Given the description of an element on the screen output the (x, y) to click on. 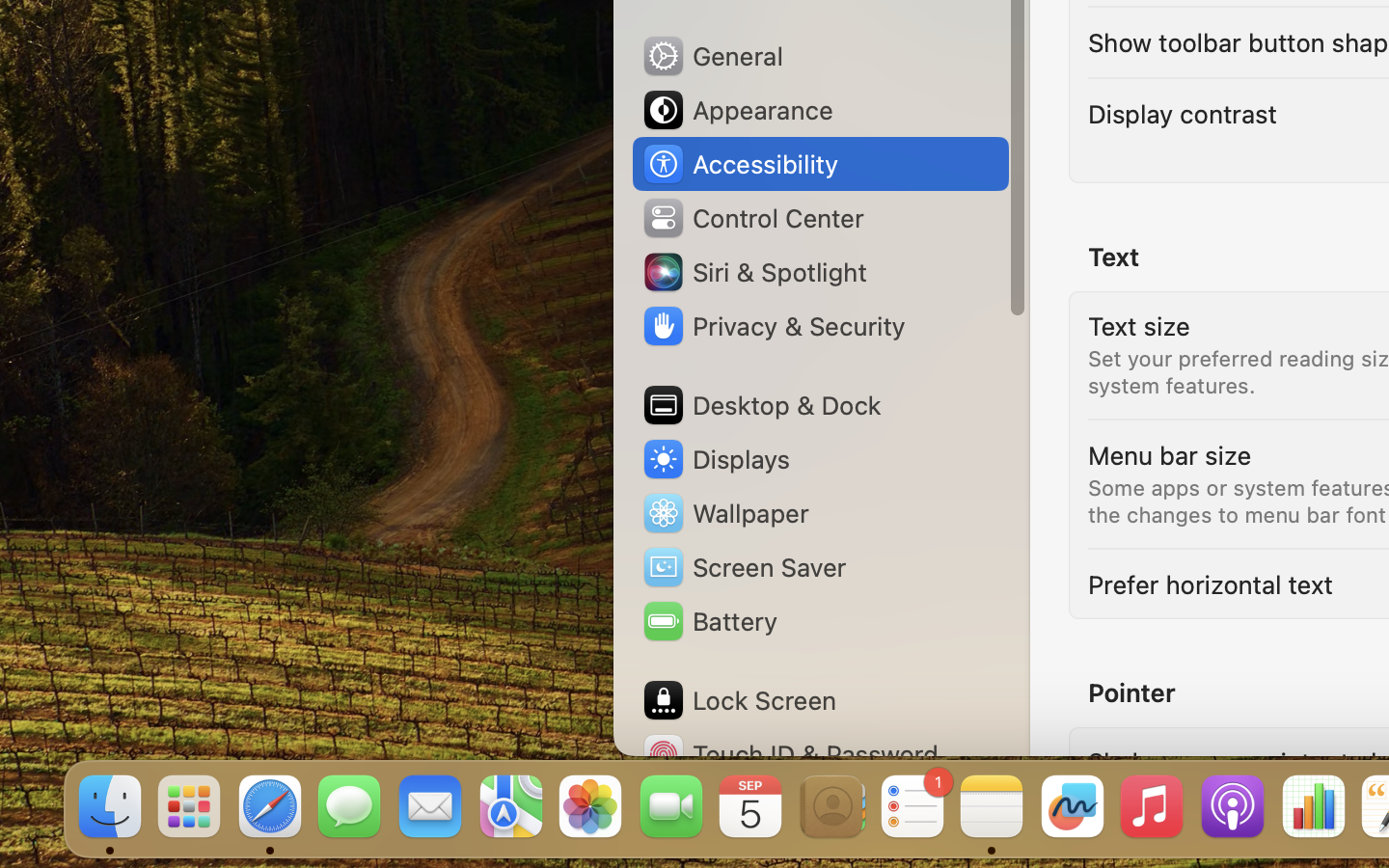
Wallpaper Element type: AXStaticText (724, 512)
Control Center Element type: AXStaticText (752, 217)
Touch ID & Password Element type: AXStaticText (789, 754)
Prefer horizontal text Element type: AXStaticText (1210, 584)
Siri & Spotlight Element type: AXStaticText (753, 271)
